Given the description of an element on the screen output the (x, y) to click on. 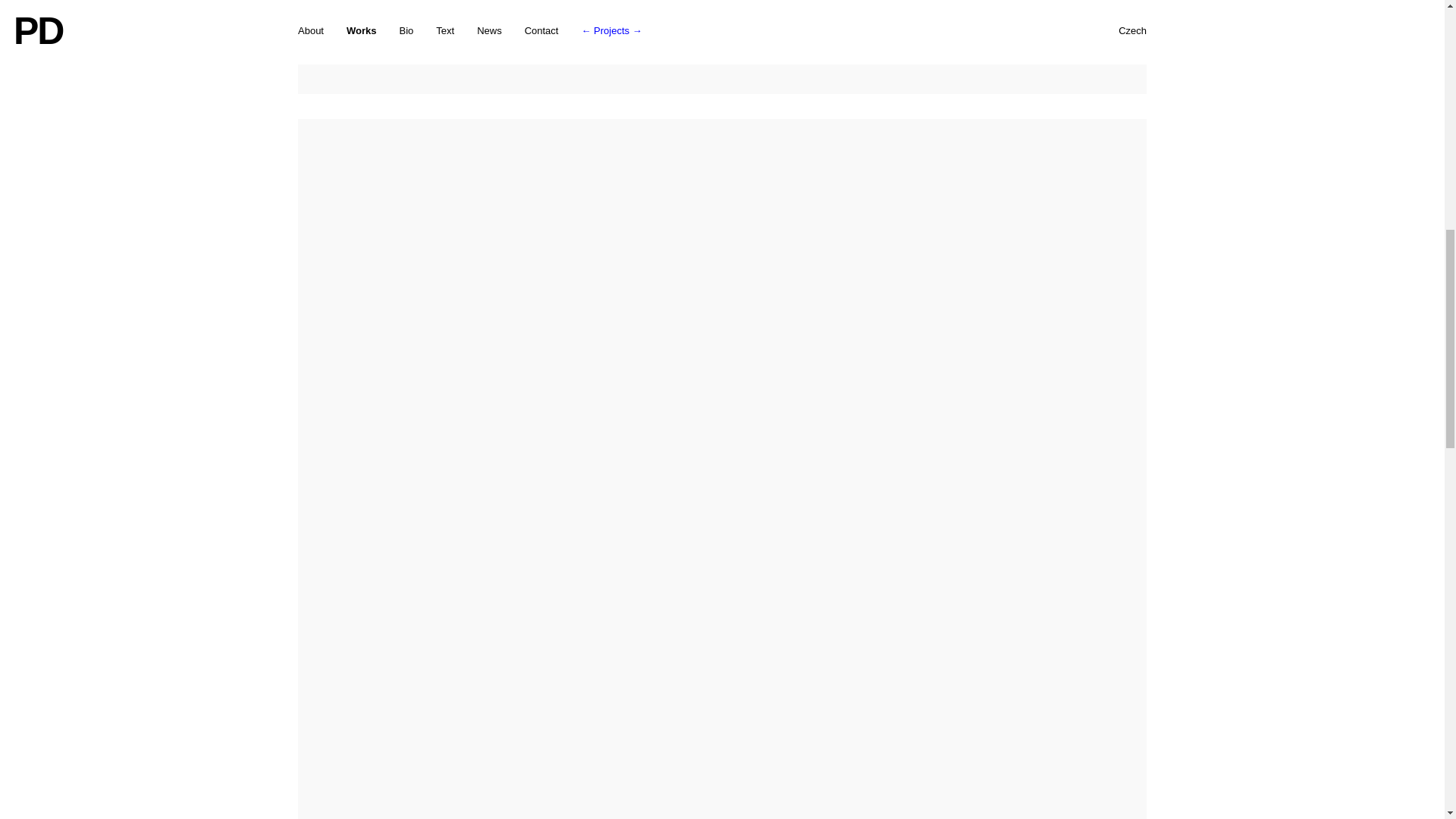
petr-dub-villa-tugendhat (722, 47)
